Given the description of an element on the screen output the (x, y) to click on. 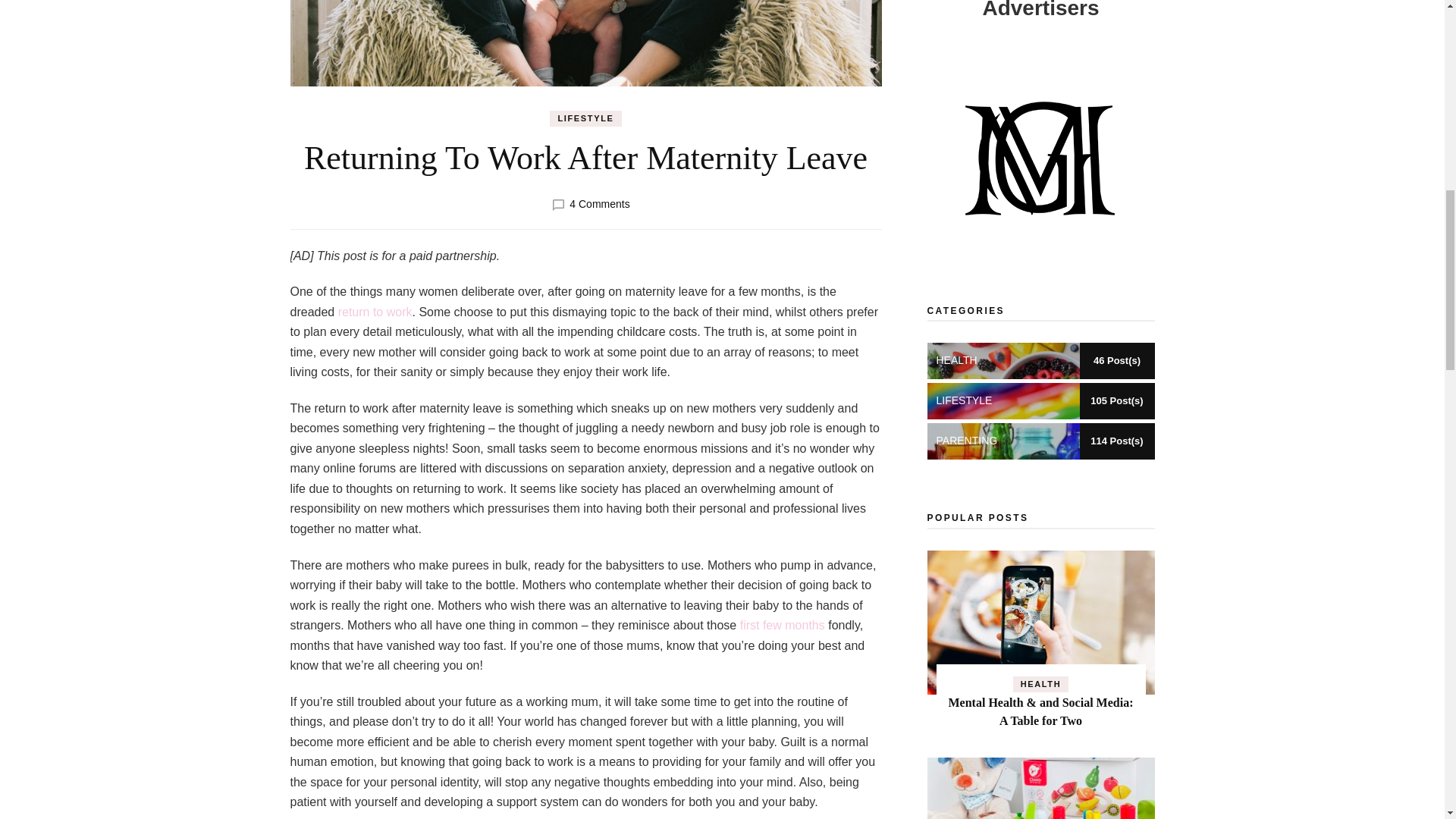
return to work (374, 311)
first few months (598, 203)
LIFESTYLE (782, 625)
